Given the description of an element on the screen output the (x, y) to click on. 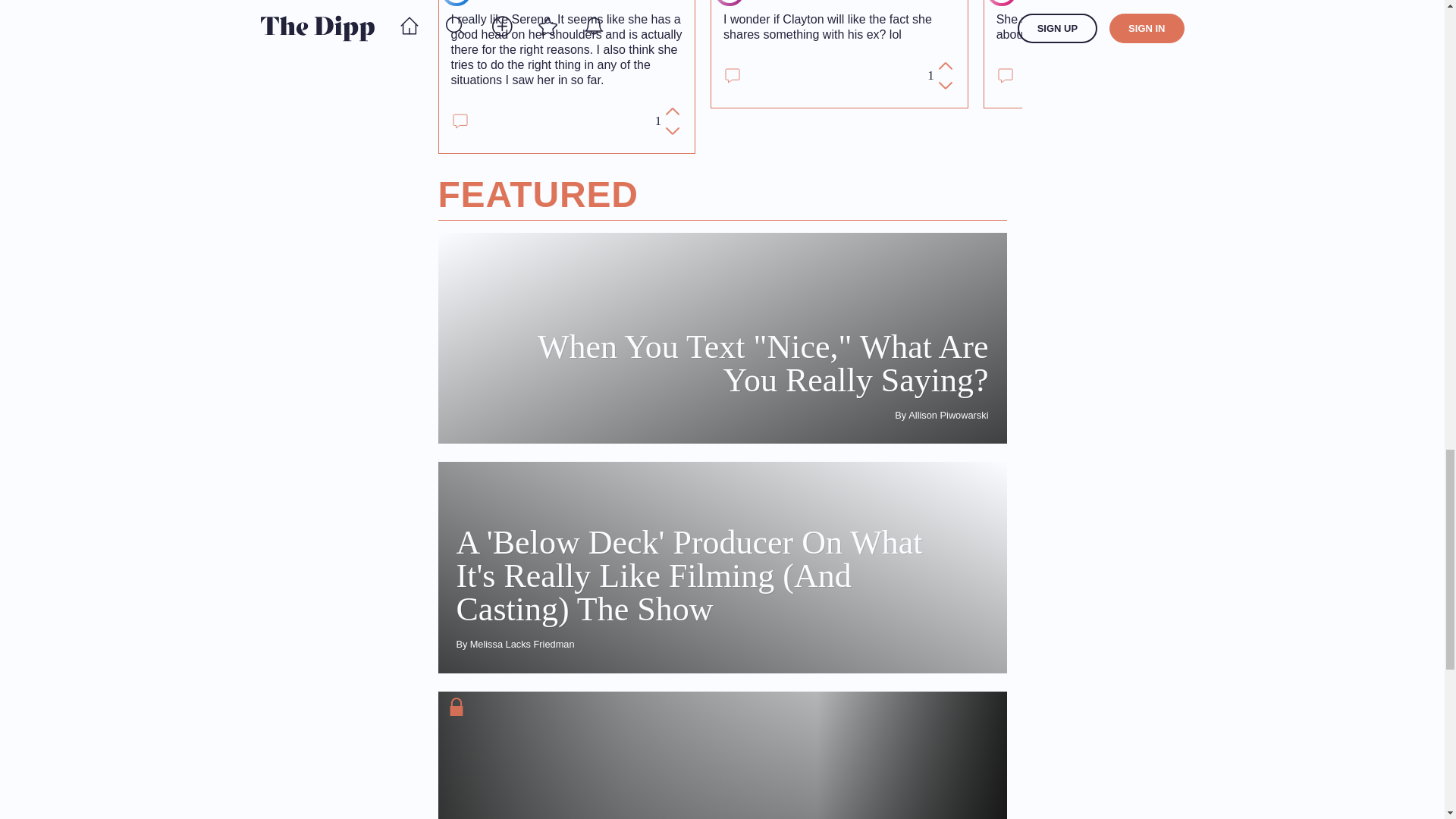
R (456, 2)
J (729, 2)
B (1001, 2)
